Given the description of an element on the screen output the (x, y) to click on. 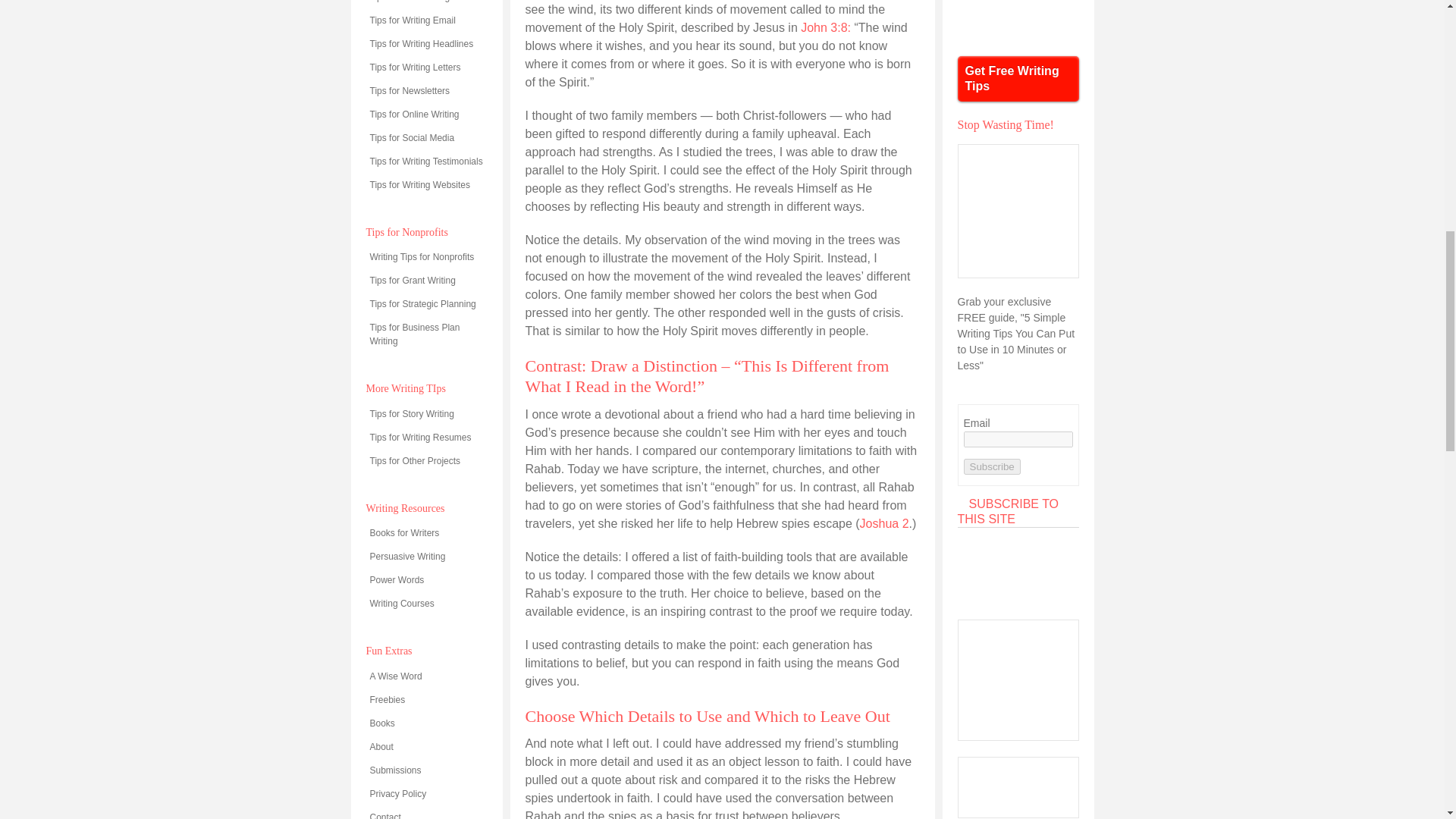
nonprofit-courses-content-expert-logo-round (1017, 20)
Joshua 2 (884, 522)
John 3:8: (825, 27)
